Given the description of an element on the screen output the (x, y) to click on. 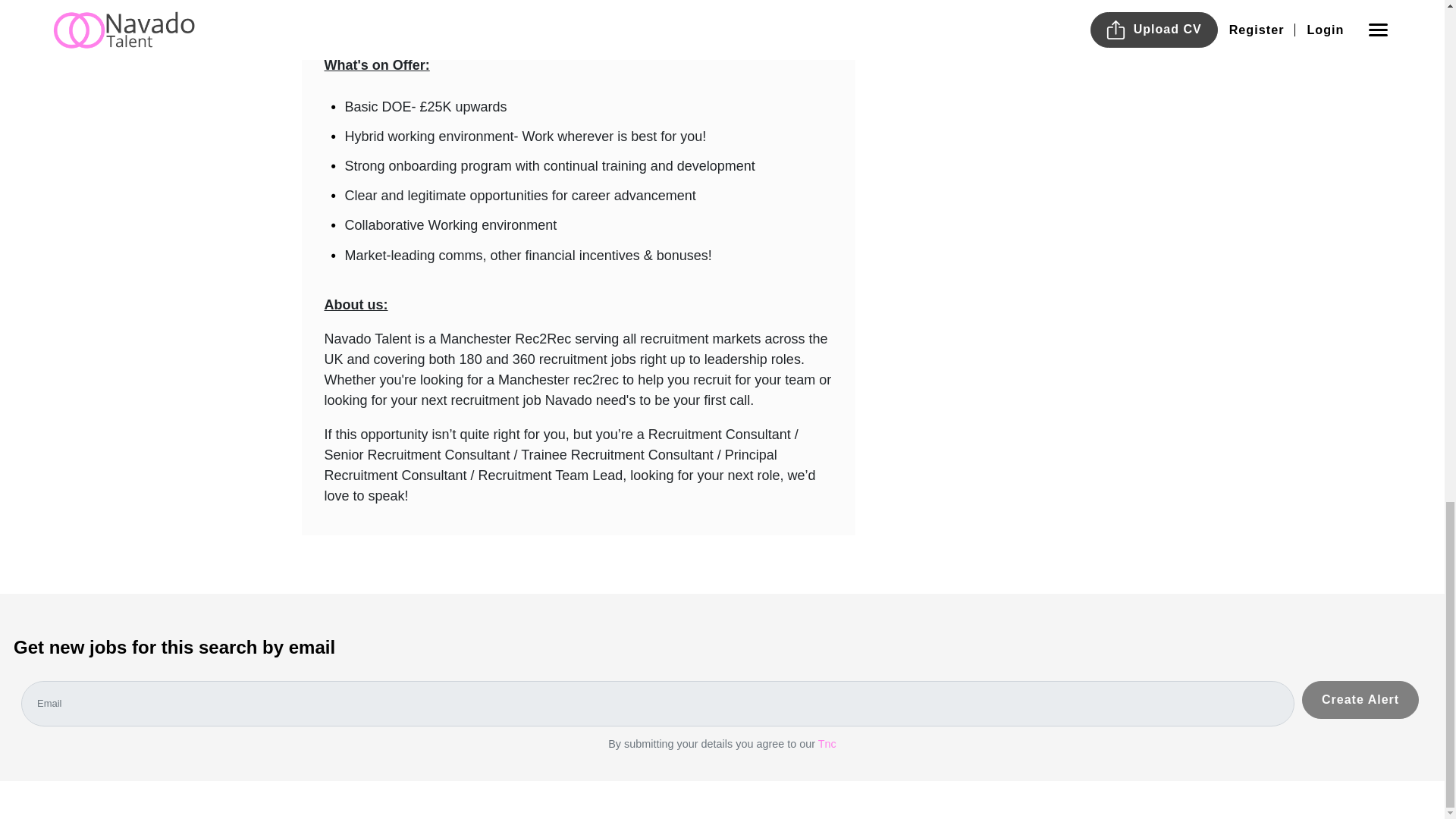
Tnc (826, 743)
Create Alert (1359, 699)
